Given the description of an element on the screen output the (x, y) to click on. 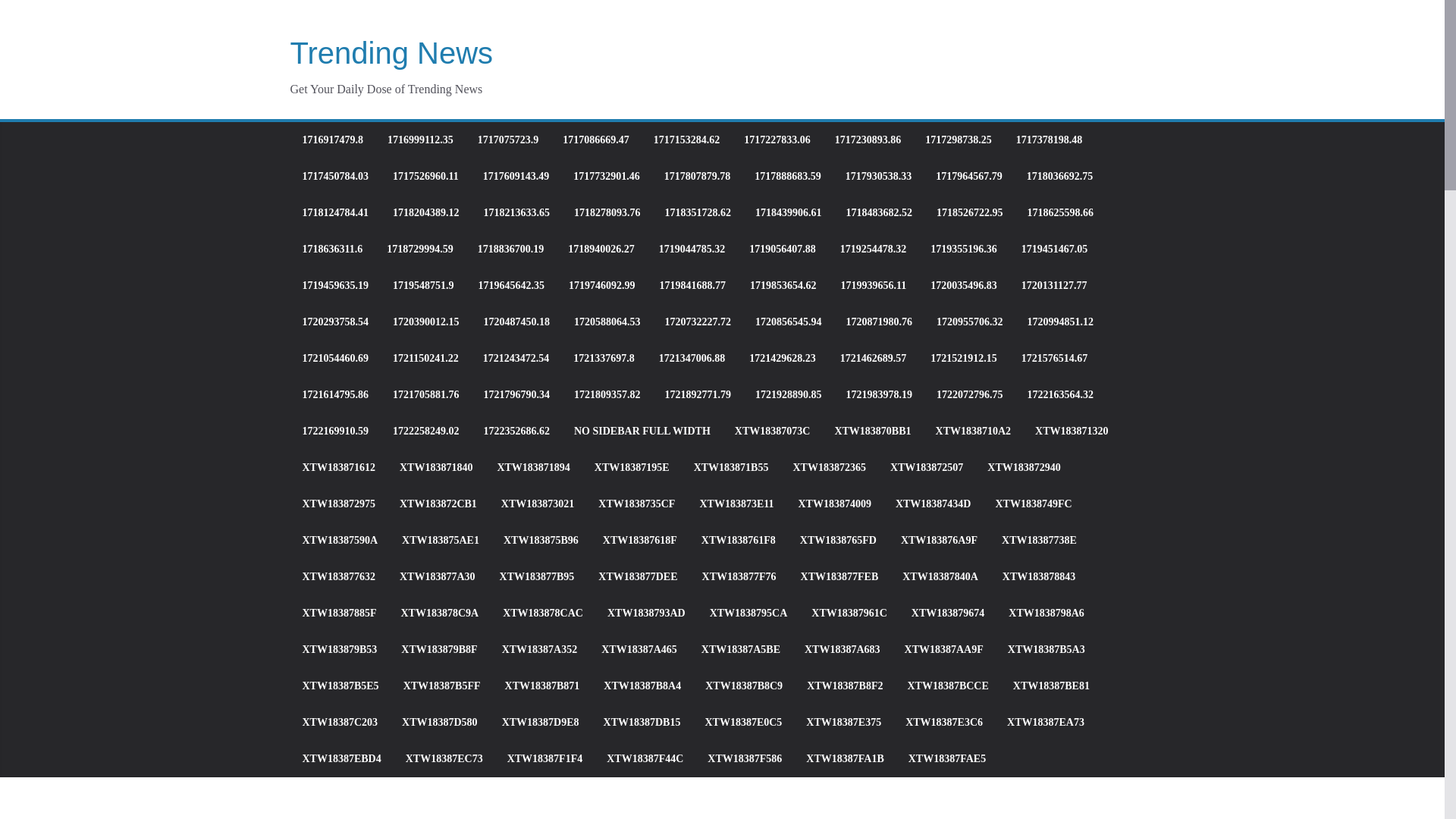
1719459635.19 (334, 285)
1717450784.03 (334, 176)
1719355196.36 (963, 249)
1717609143.49 (516, 176)
1717298738.25 (957, 139)
1717227833.06 (777, 139)
1718526722.95 (969, 212)
1717888683.59 (787, 176)
1717230893.86 (867, 139)
1718483682.52 (878, 212)
